Given the description of an element on the screen output the (x, y) to click on. 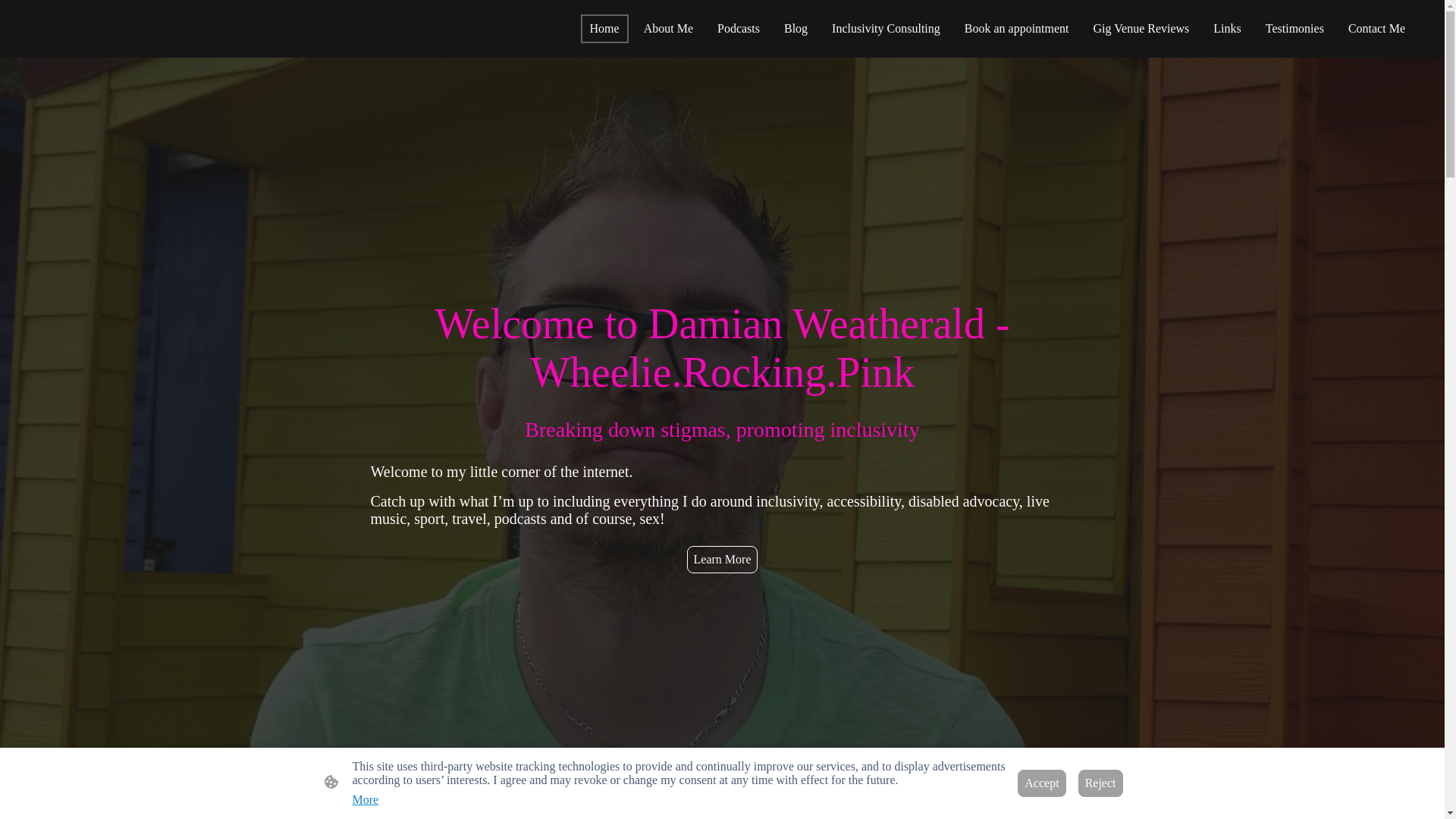
Learn More (722, 559)
Testimonies (1294, 28)
Reject (1100, 782)
About Me (668, 28)
Accept (1041, 782)
Inclusivity Consulting (885, 28)
Gig Venue Reviews (1141, 28)
Podcasts (738, 28)
Links (1226, 28)
Home (604, 28)
Contact Me (1376, 28)
Blog (795, 28)
More (365, 799)
Book an appointment (1016, 28)
